Given the description of an element on the screen output the (x, y) to click on. 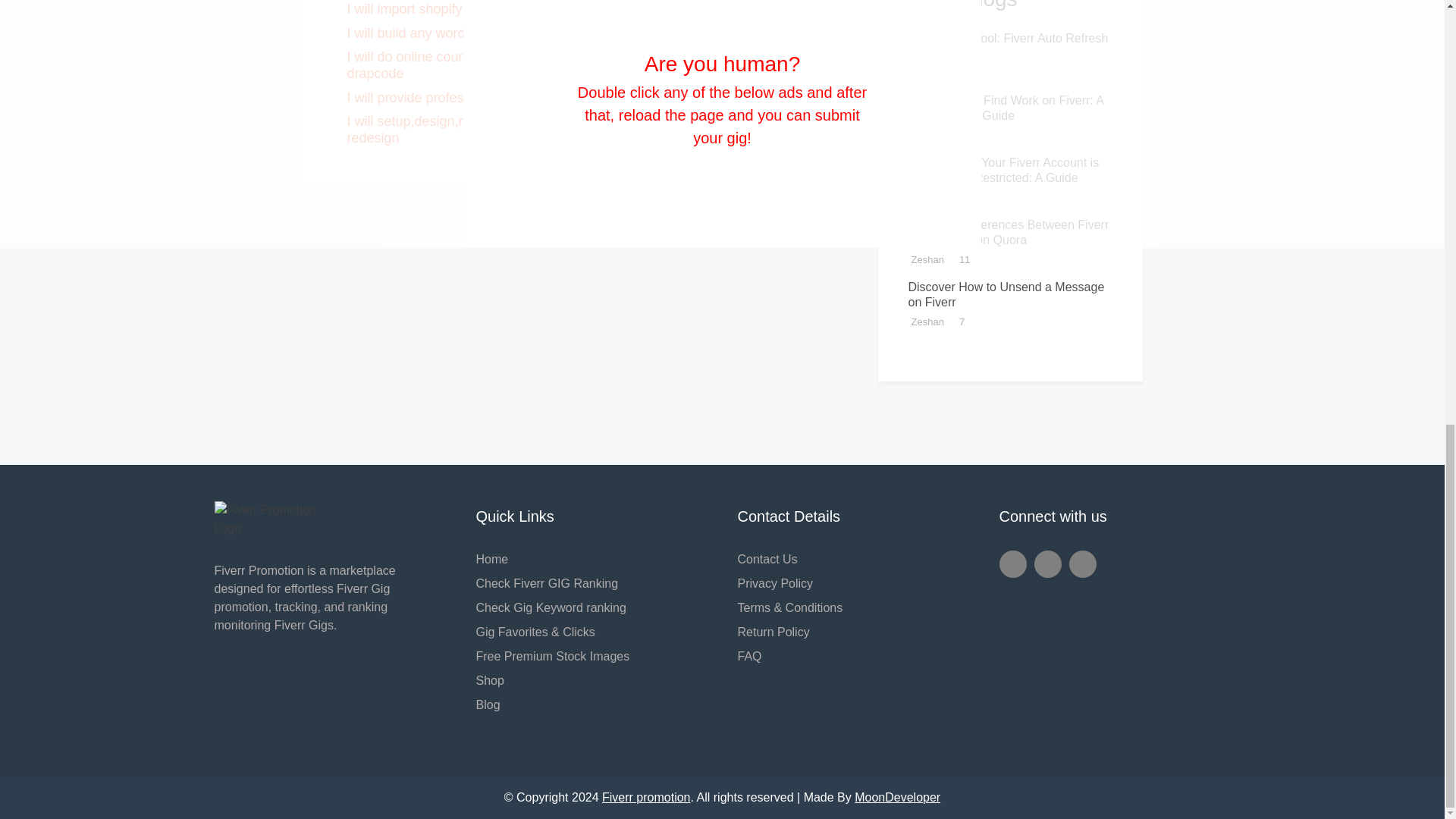
I will build any wordpress website (447, 32)
